Given the description of an element on the screen output the (x, y) to click on. 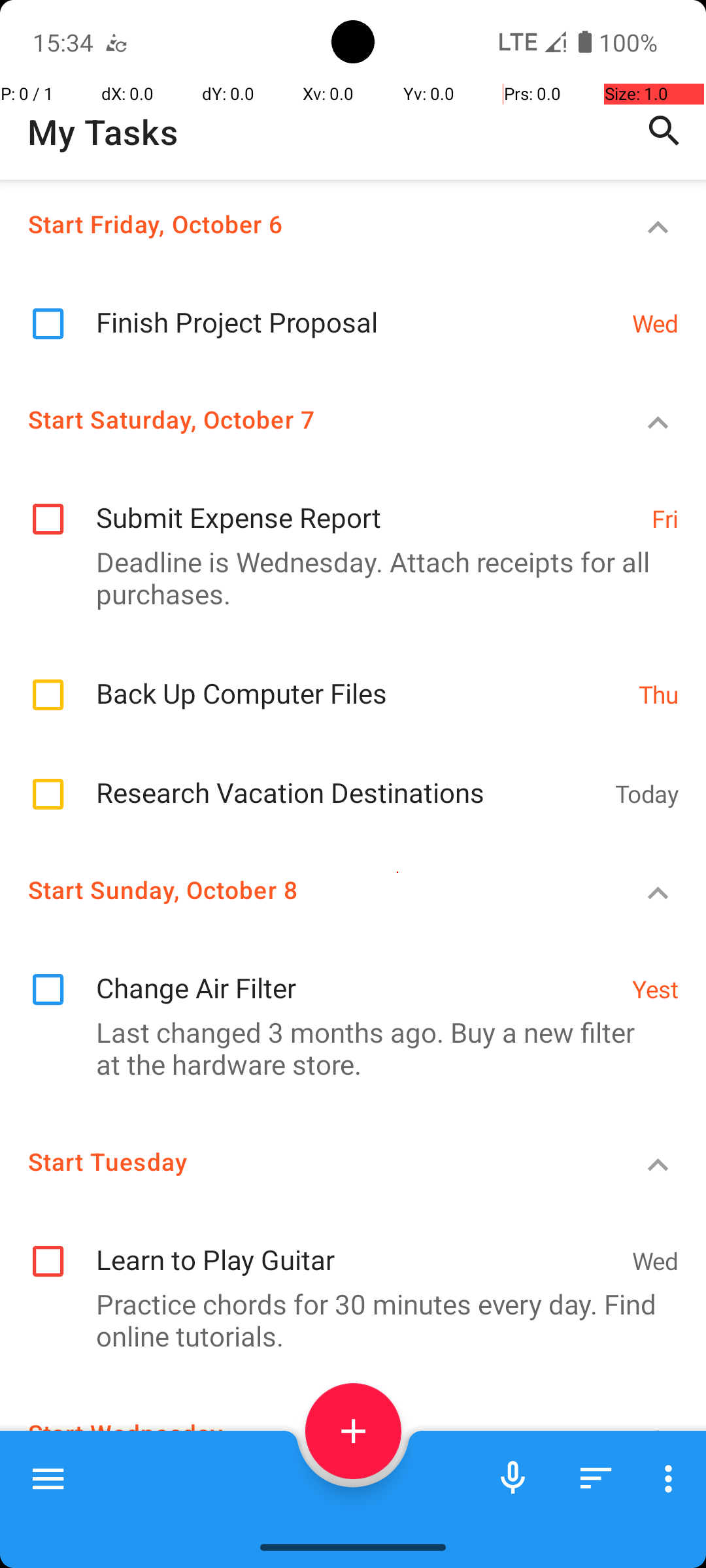
Start Friday, October 6 Element type: android.widget.TextView (304, 223)
Start Saturday, October 7 Element type: android.widget.TextView (304, 419)
Start Sunday, October 8 Element type: android.widget.TextView (304, 889)
Start Tuesday Element type: android.widget.TextView (304, 1161)
Start Wednesday Element type: android.widget.TextView (304, 1432)
Deadline is Wednesday. Attach receipts for all purchases. Element type: android.widget.TextView (346, 577)
Research Vacation Destinations Element type: android.widget.TextView (348, 778)
Last changed 3 months ago. Buy a new filter at the hardware store. Element type: android.widget.TextView (346, 1047)
Practice chords for 30 minutes every day. Find online tutorials. Element type: android.widget.TextView (346, 1319)
